Given the description of an element on the screen output the (x, y) to click on. 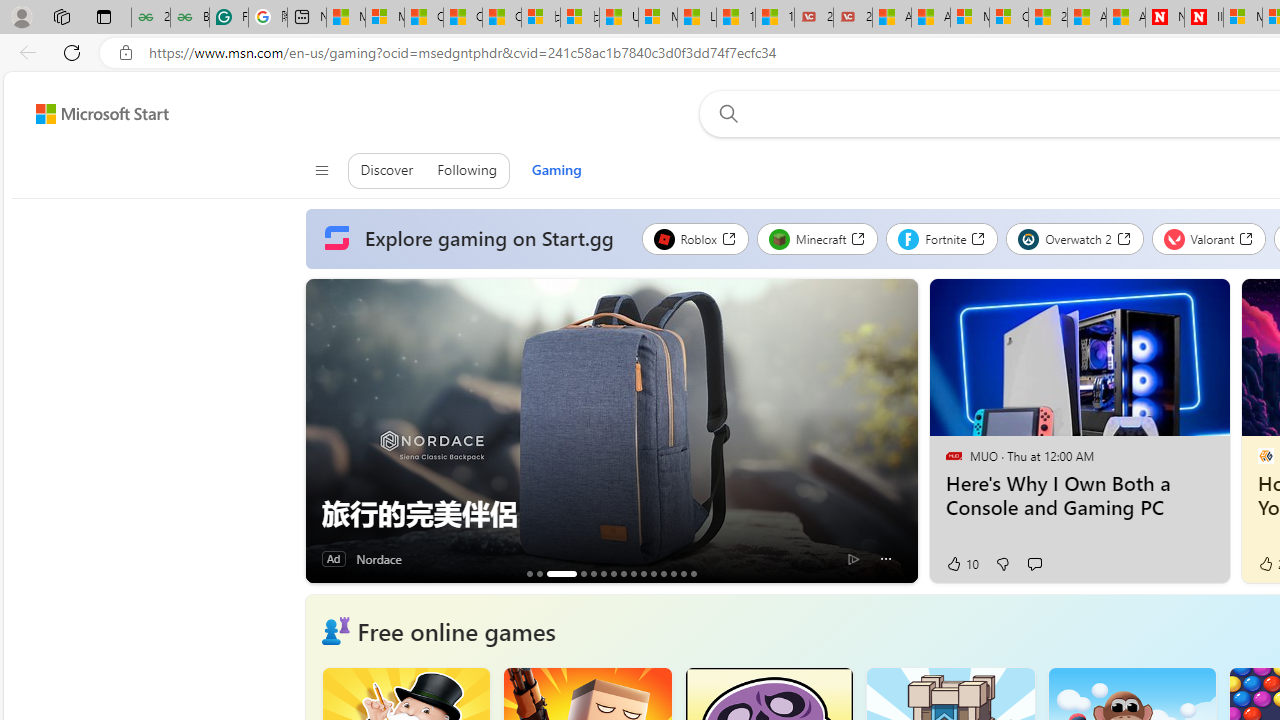
USA TODAY - MSN (618, 17)
MUO (953, 455)
AutomationID: tab_nativead-infopane-14 (683, 573)
Fortnite (942, 238)
Gaming (555, 169)
AutomationID: tab_nativead-infopane-3 (561, 573)
